Given the description of an element on the screen output the (x, y) to click on. 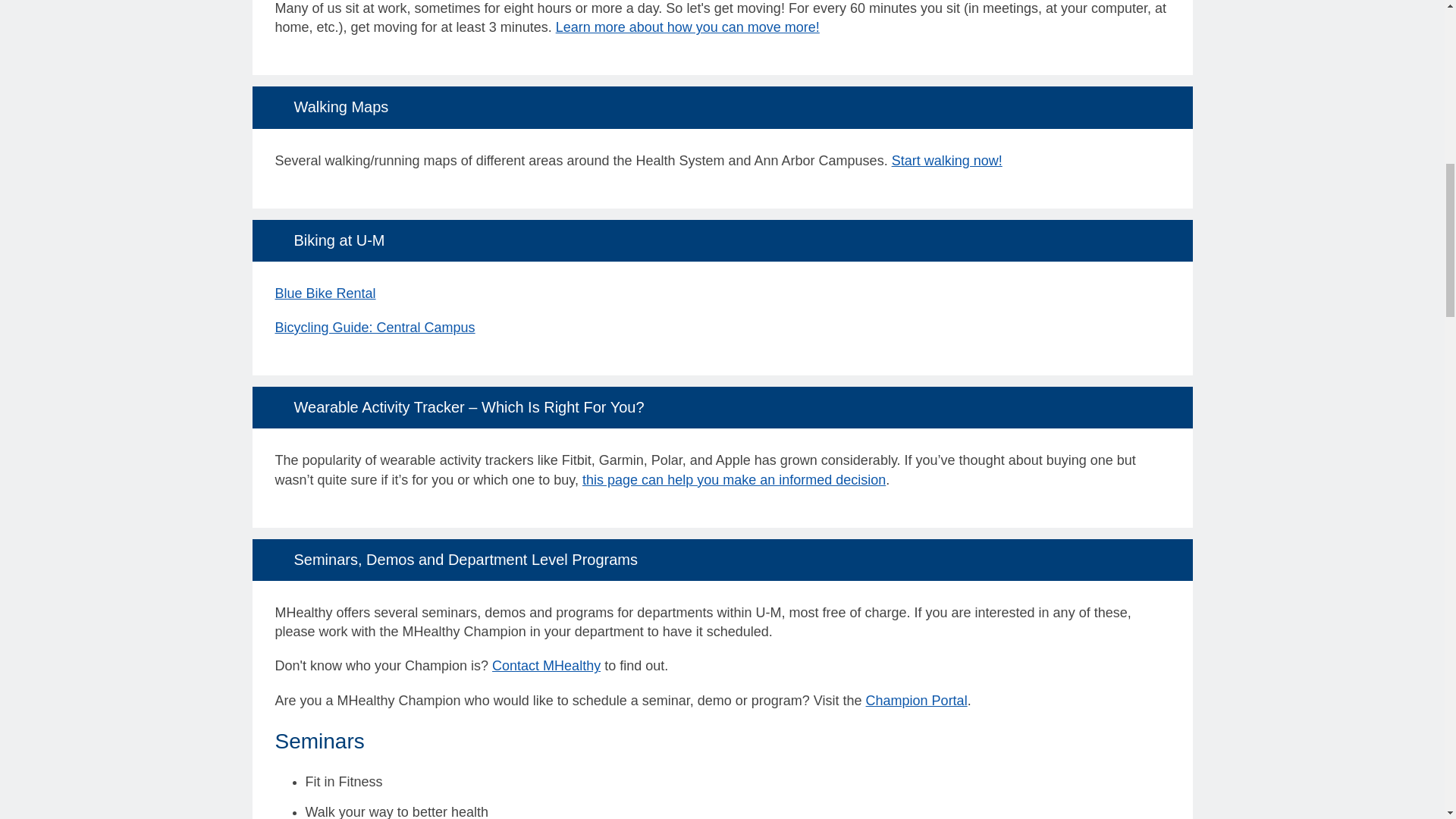
Walking Maps (721, 106)
Bicycling Guide: Central Campus (374, 327)
Seminars, Demos and Department Level Programs (721, 559)
Champion Portal (917, 700)
Start walking now! (947, 160)
this page can help you make an informed decision (733, 479)
Learn more about how you can move more! (687, 27)
Blue Bike Rental (325, 293)
Contact MHealthy (545, 665)
Biking at U-M (721, 240)
